Given the description of an element on the screen output the (x, y) to click on. 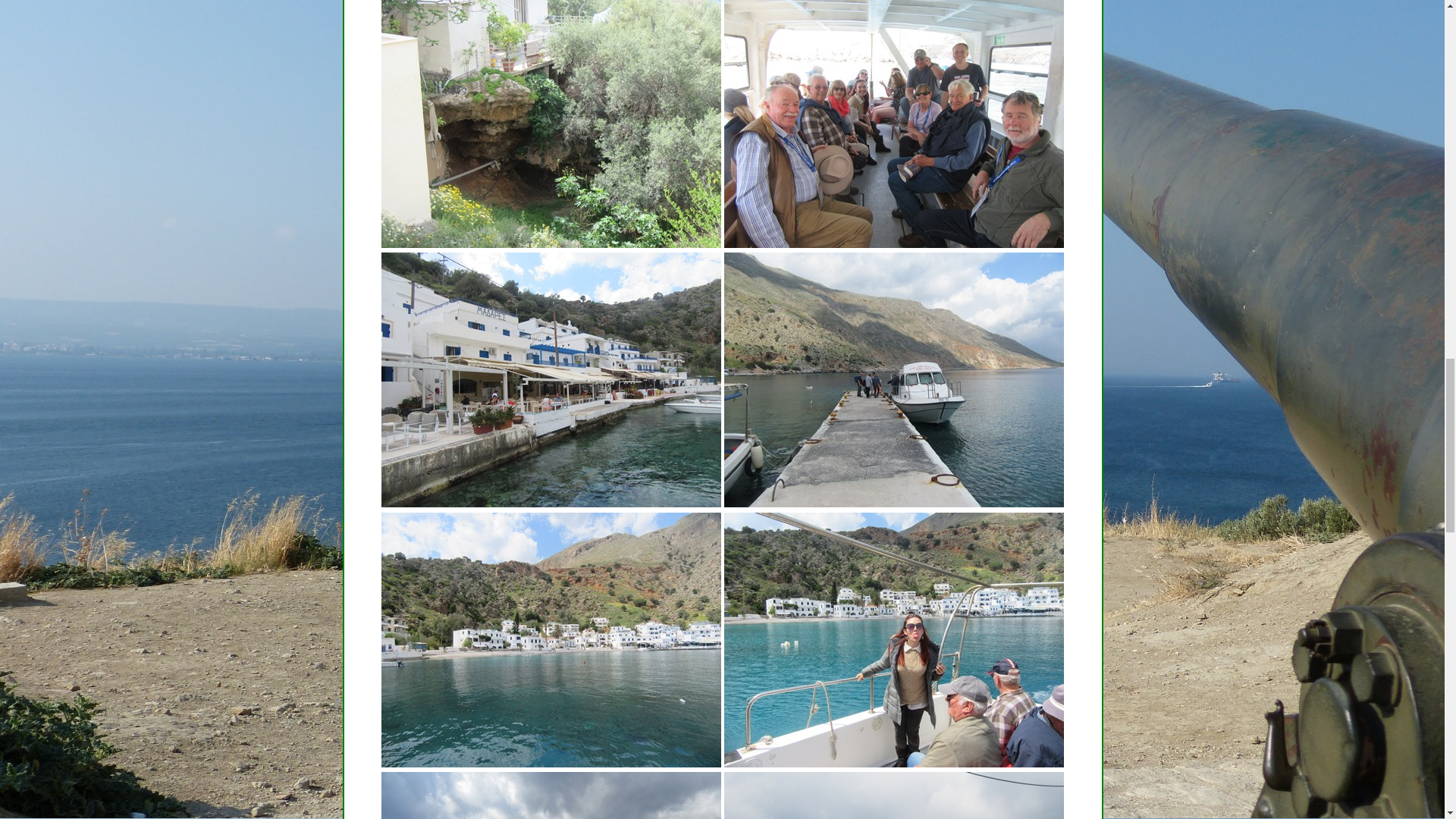
Greece and Crete Tour 2019 (550, 379)
Greece and Crete Tour 2019 (893, 379)
Greece and Crete Tour 2019 (550, 795)
Greece and Crete Tour 2019 (893, 124)
Greece and Crete Tour 2019 (893, 639)
Greece and Crete Tour 2019 (893, 795)
Greece and Crete Tour 2019 (550, 639)
Greece and Crete Tour 2019 (550, 124)
